Given the description of an element on the screen output the (x, y) to click on. 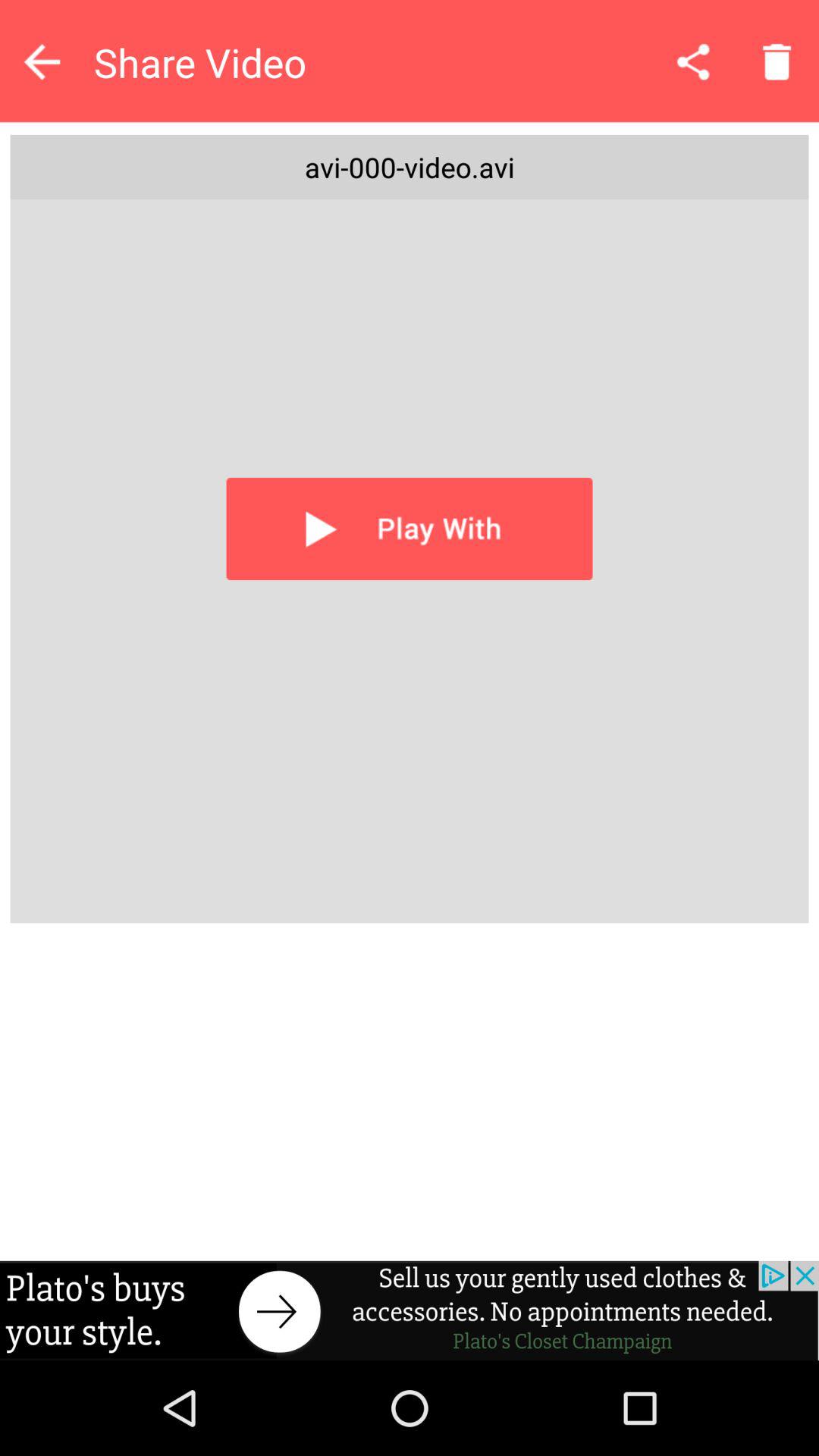
click advertisement (409, 1310)
